Given the description of an element on the screen output the (x, y) to click on. 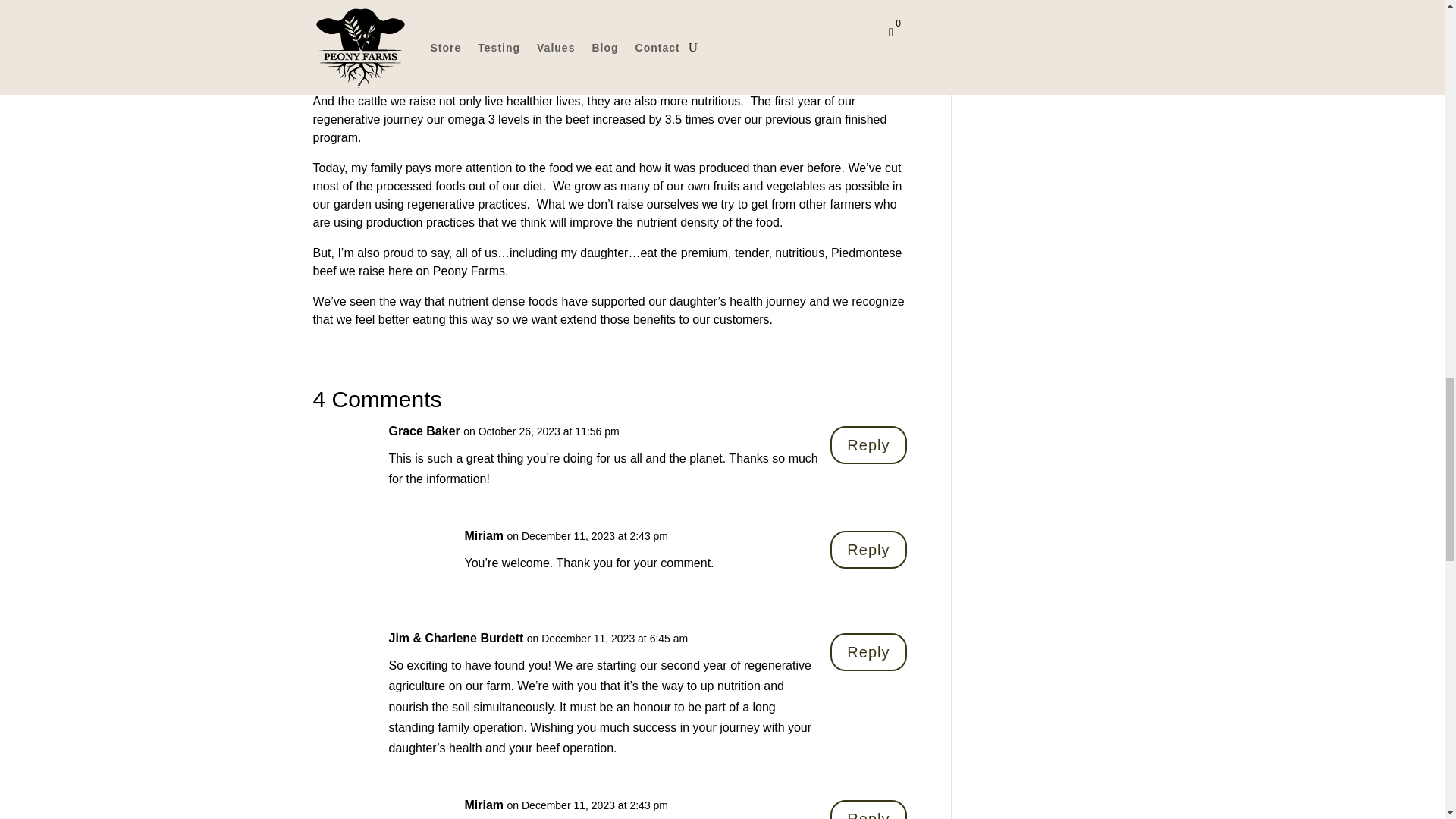
Reply (867, 651)
Reply (867, 809)
Miriam (483, 535)
Reply (867, 444)
Reply (867, 549)
Miriam (483, 804)
